Given the description of an element on the screen output the (x, y) to click on. 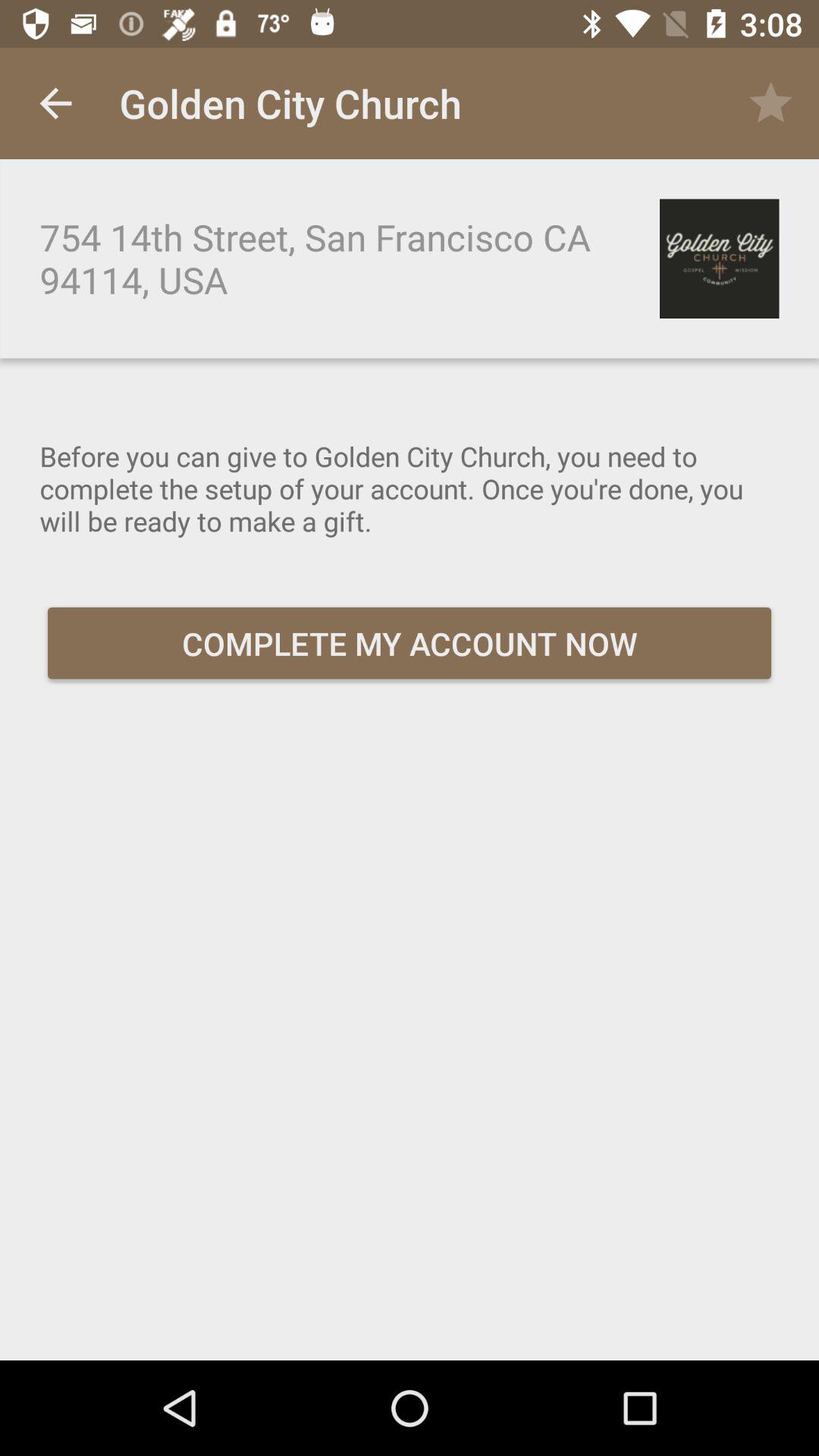
launch the icon to the left of the golden city church (55, 103)
